Given the description of an element on the screen output the (x, y) to click on. 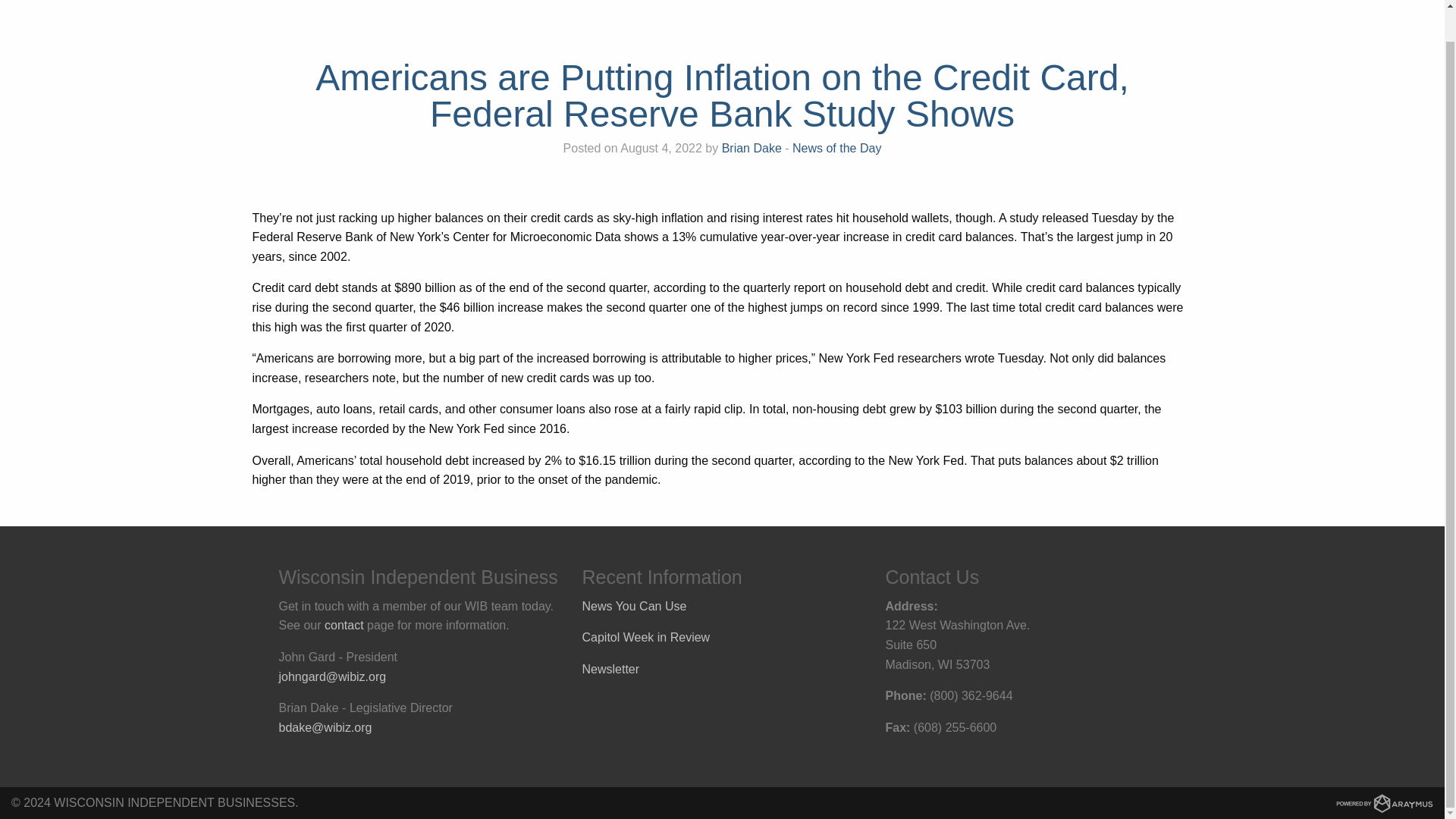
Brian Dake (751, 147)
News You Can Use (634, 605)
Newsletter (611, 668)
Member Benefits (1010, 4)
contact (344, 625)
Ask the Cybersecurity Expert (1161, 4)
wisconsin Wisconsin Independent Businesses (123, 4)
Affinity Health Plan (1315, 4)
News of the Day (836, 147)
About WIB (907, 4)
Capitol Week in Review (646, 636)
Posts by Brian Dake (751, 147)
